Given the description of an element on the screen output the (x, y) to click on. 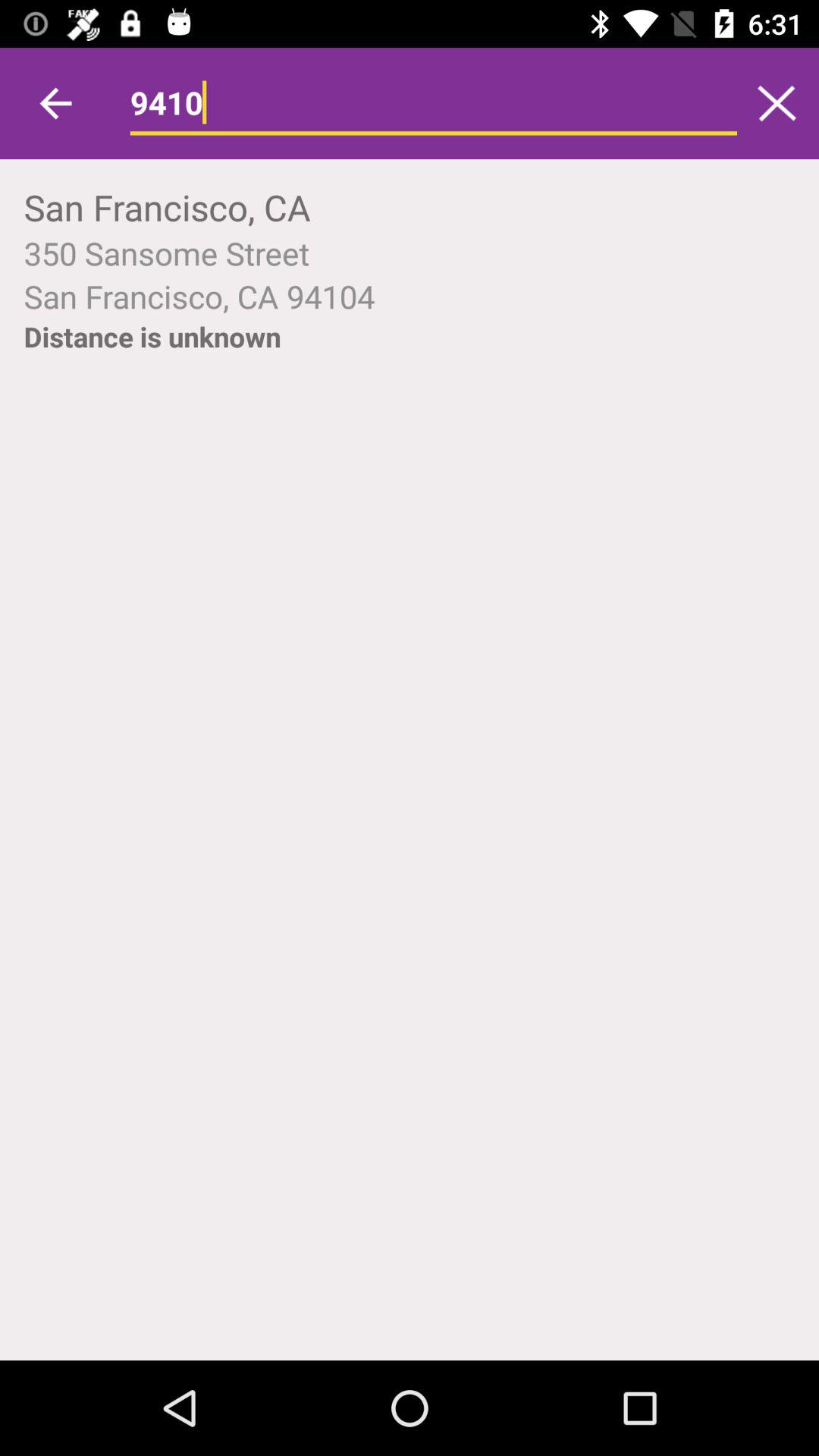
turn on 9410 (433, 103)
